Given the description of an element on the screen output the (x, y) to click on. 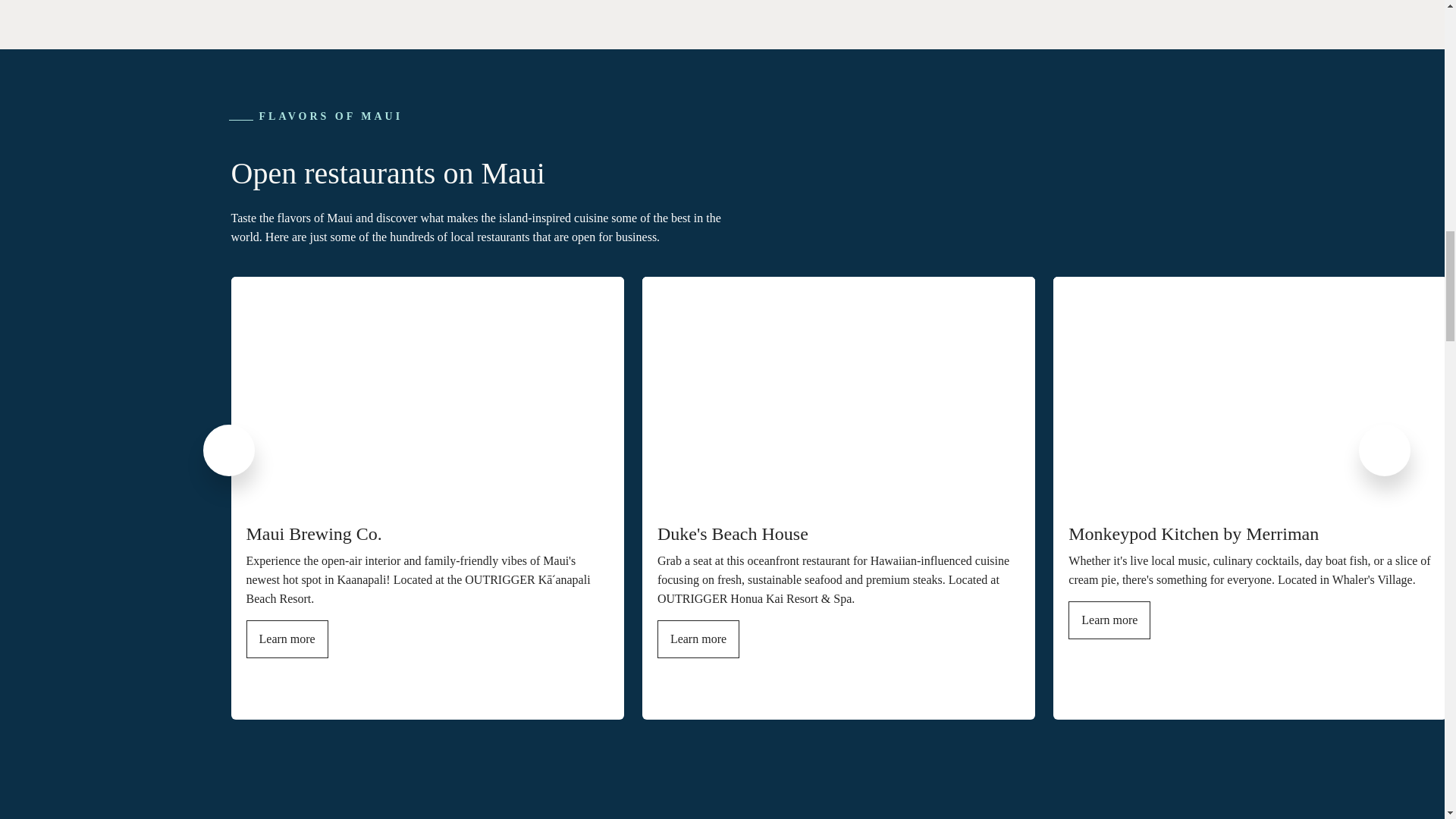
Learn more (1109, 620)
Learn more (286, 638)
Learn more (698, 638)
